Given the description of an element on the screen output the (x, y) to click on. 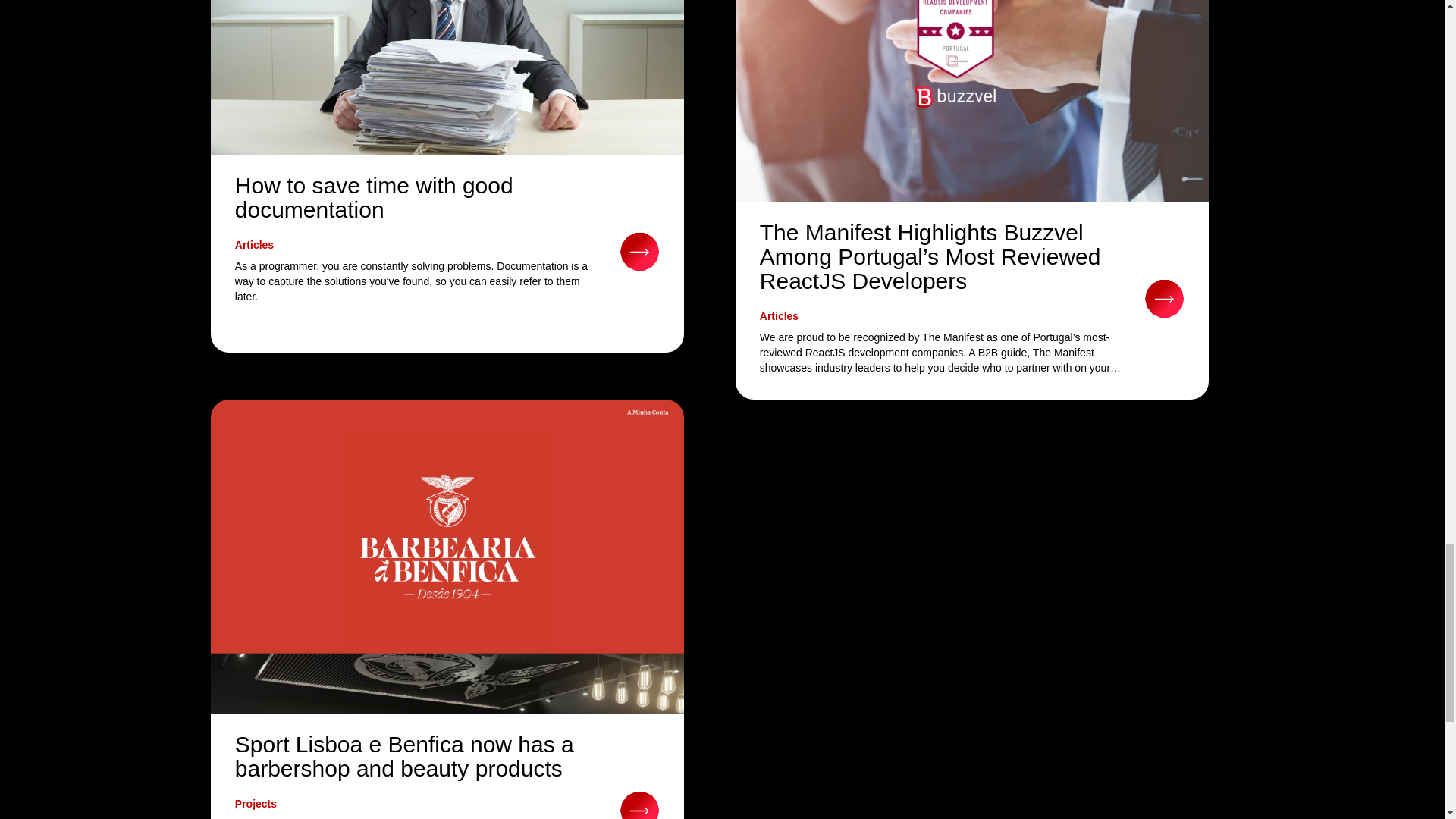
button-let-talk (639, 250)
button-let-talk (639, 803)
button-let-talk (1164, 296)
